Given the description of an element on the screen output the (x, y) to click on. 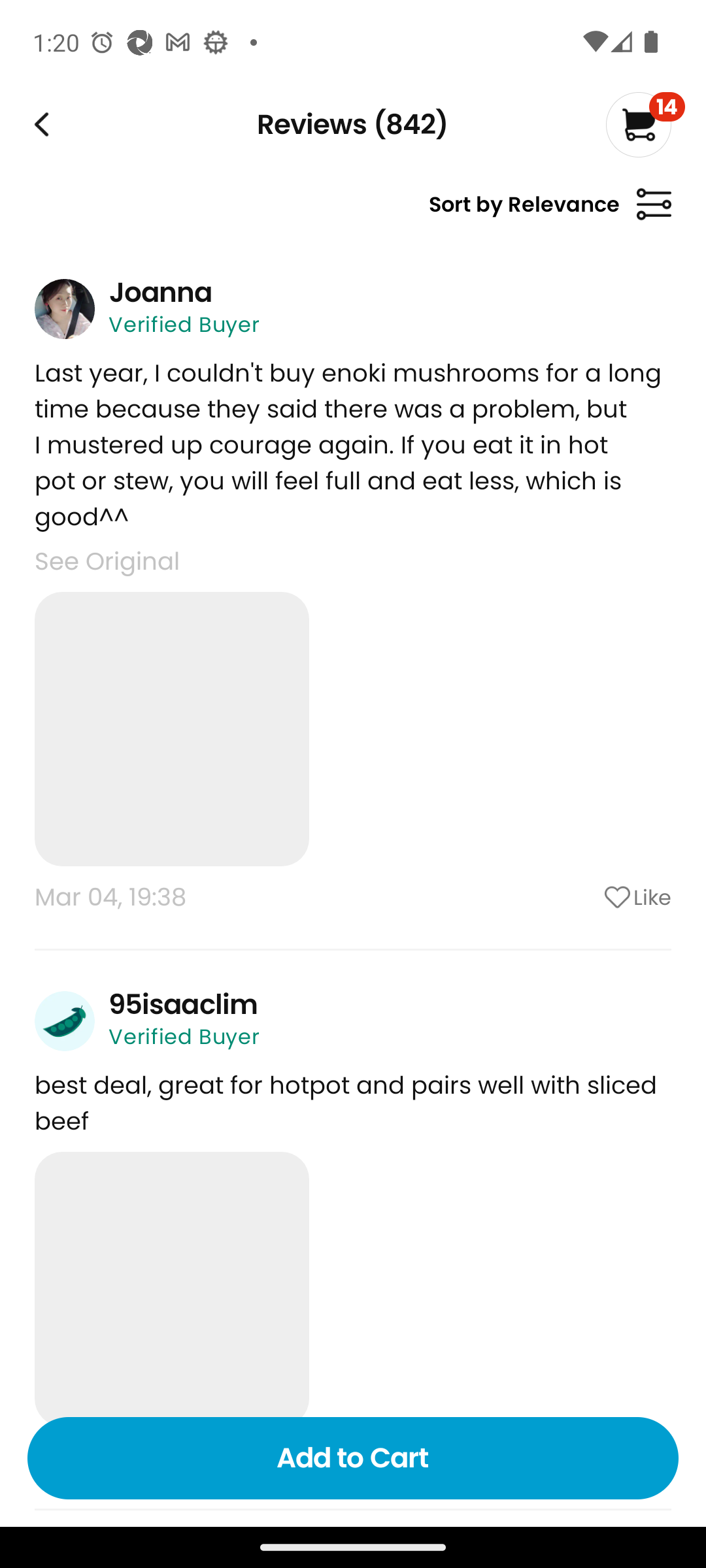
14 (644, 124)
Sort by Relevance (549, 212)
Joanna (159, 292)
Verified Buyer (183, 324)
See Original (107, 561)
Like (585, 896)
95isaaclim (183, 1003)
Verified Buyer (183, 1036)
Add to Cart (352, 1458)
